Given the description of an element on the screen output the (x, y) to click on. 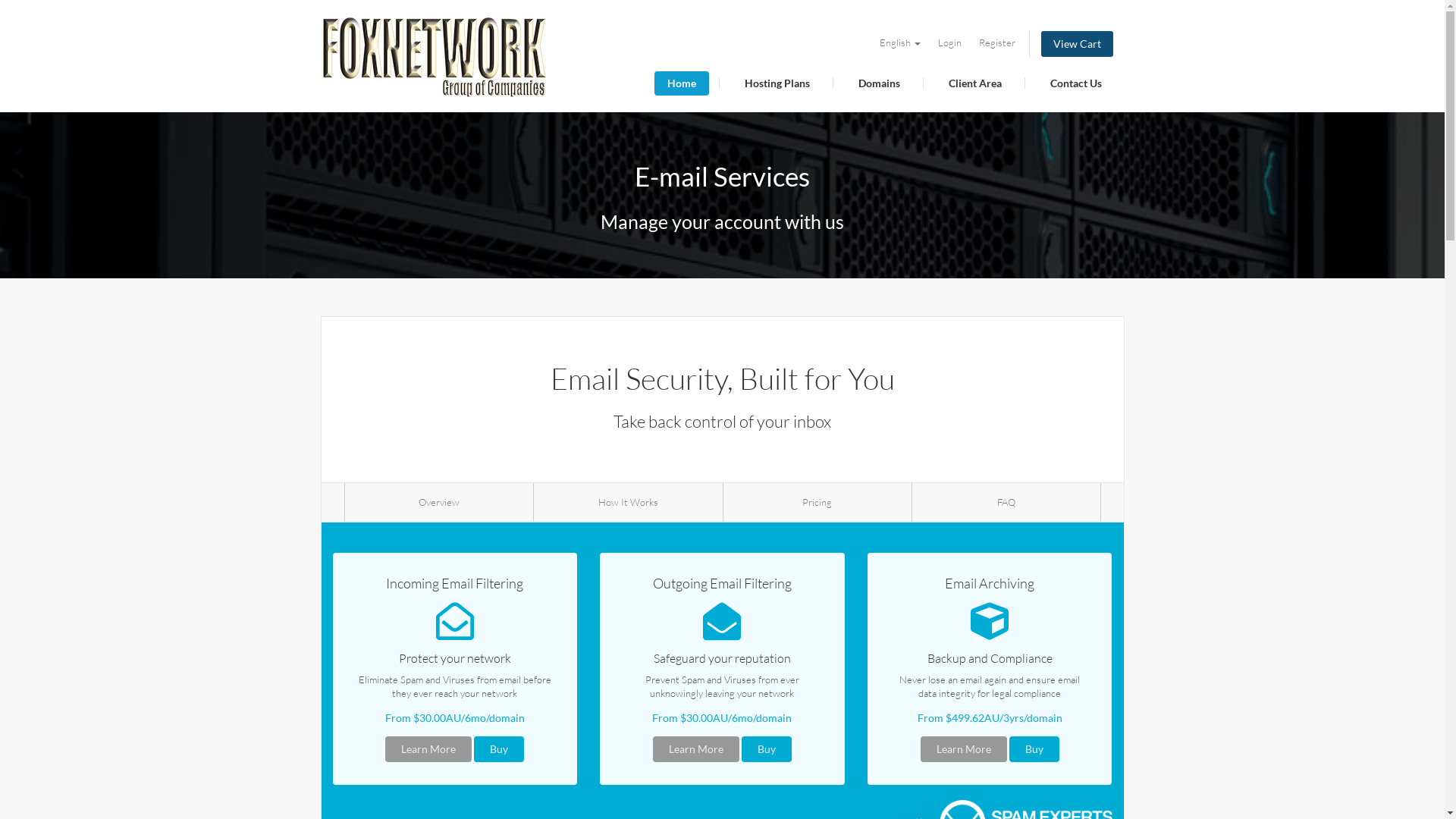
Client Area Element type: text (974, 83)
Learn More Element type: text (428, 749)
Learn More Element type: text (695, 749)
View Cart Element type: text (1076, 43)
Buy Element type: text (498, 749)
Buy Element type: text (766, 749)
Buy Element type: text (1034, 749)
Contact Us Element type: text (1075, 83)
Hosting Plans Element type: text (776, 83)
FAQ Element type: text (1006, 502)
Overview Element type: text (438, 502)
Domains Element type: text (878, 83)
Pricing Element type: text (816, 502)
Home Element type: text (680, 83)
Learn More Element type: text (963, 749)
Register Element type: text (996, 42)
Login Element type: text (948, 42)
English Element type: text (900, 42)
How It Works Element type: text (627, 502)
